Given the description of an element on the screen output the (x, y) to click on. 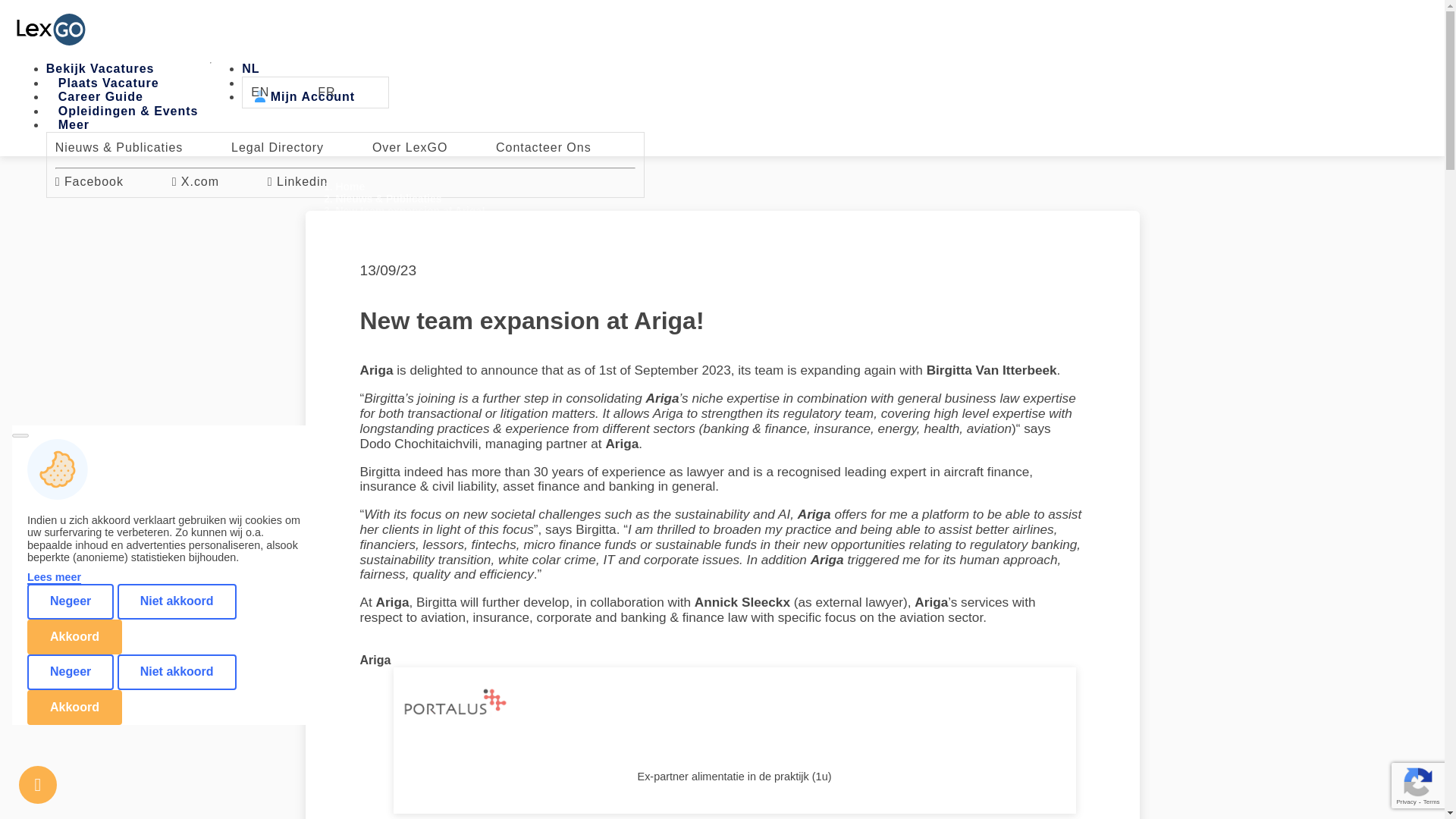
Ariga (374, 659)
Negeer (70, 601)
Contacteer Ons (565, 146)
Plaats Vacature (108, 84)
EN (282, 91)
Niet akkoord (176, 601)
New team expansion at Ariga! (409, 210)
Lees meer (54, 577)
Legal Directory (299, 146)
Home (349, 186)
Negeer (70, 671)
Bekijk Vacatures (100, 69)
Birgitta Van Itterbeek (991, 369)
Akkoord (74, 707)
Career Guide (100, 98)
